Given the description of an element on the screen output the (x, y) to click on. 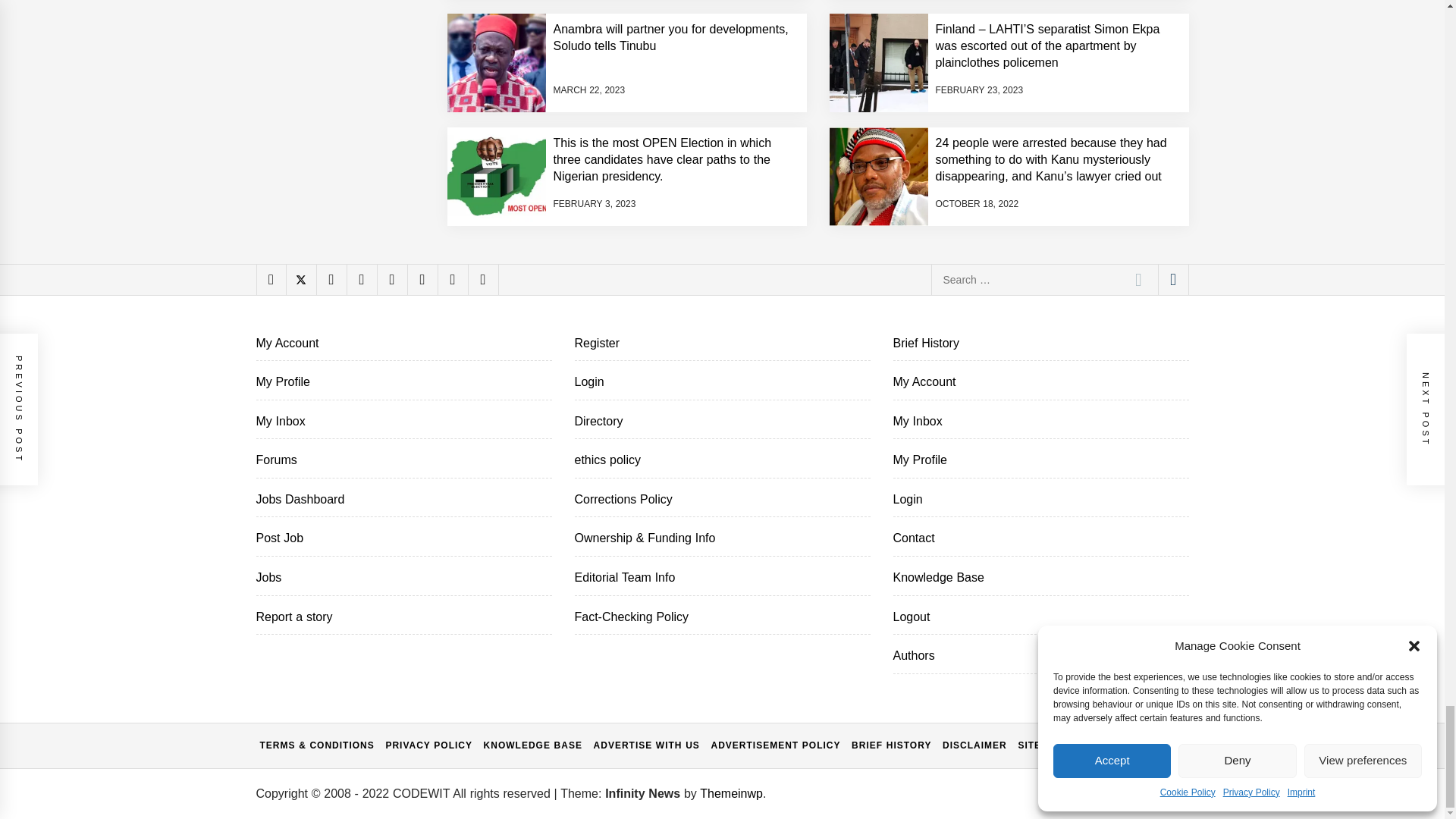
Search (1138, 278)
Search (1138, 278)
